Given the description of an element on the screen output the (x, y) to click on. 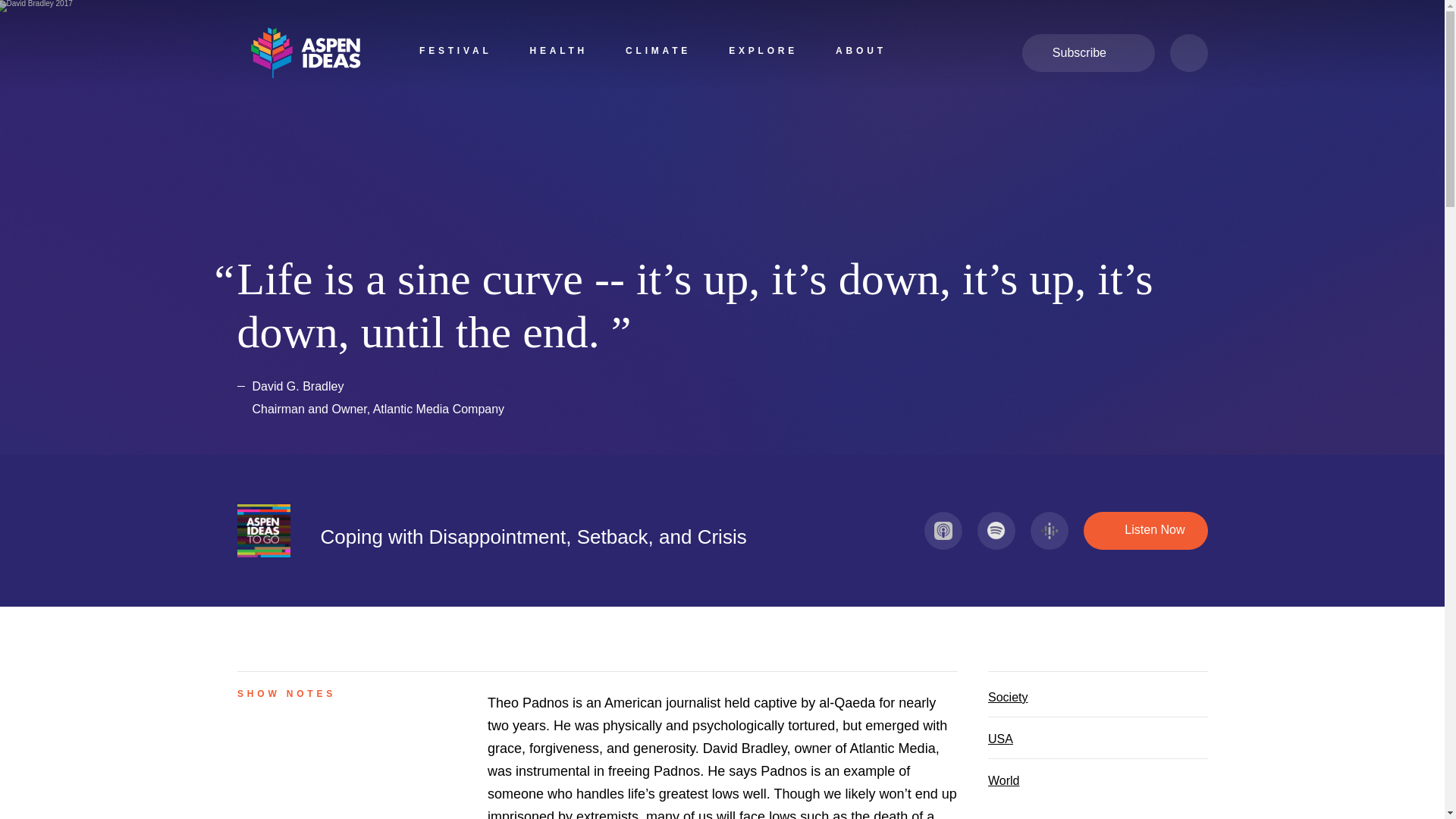
HEALTH (558, 52)
ABOUT (860, 52)
FESTIVAL (455, 52)
EXPLORE (763, 52)
Subscribe (1088, 53)
Listen Now (1145, 530)
CLIMATE (658, 52)
